Given the description of an element on the screen output the (x, y) to click on. 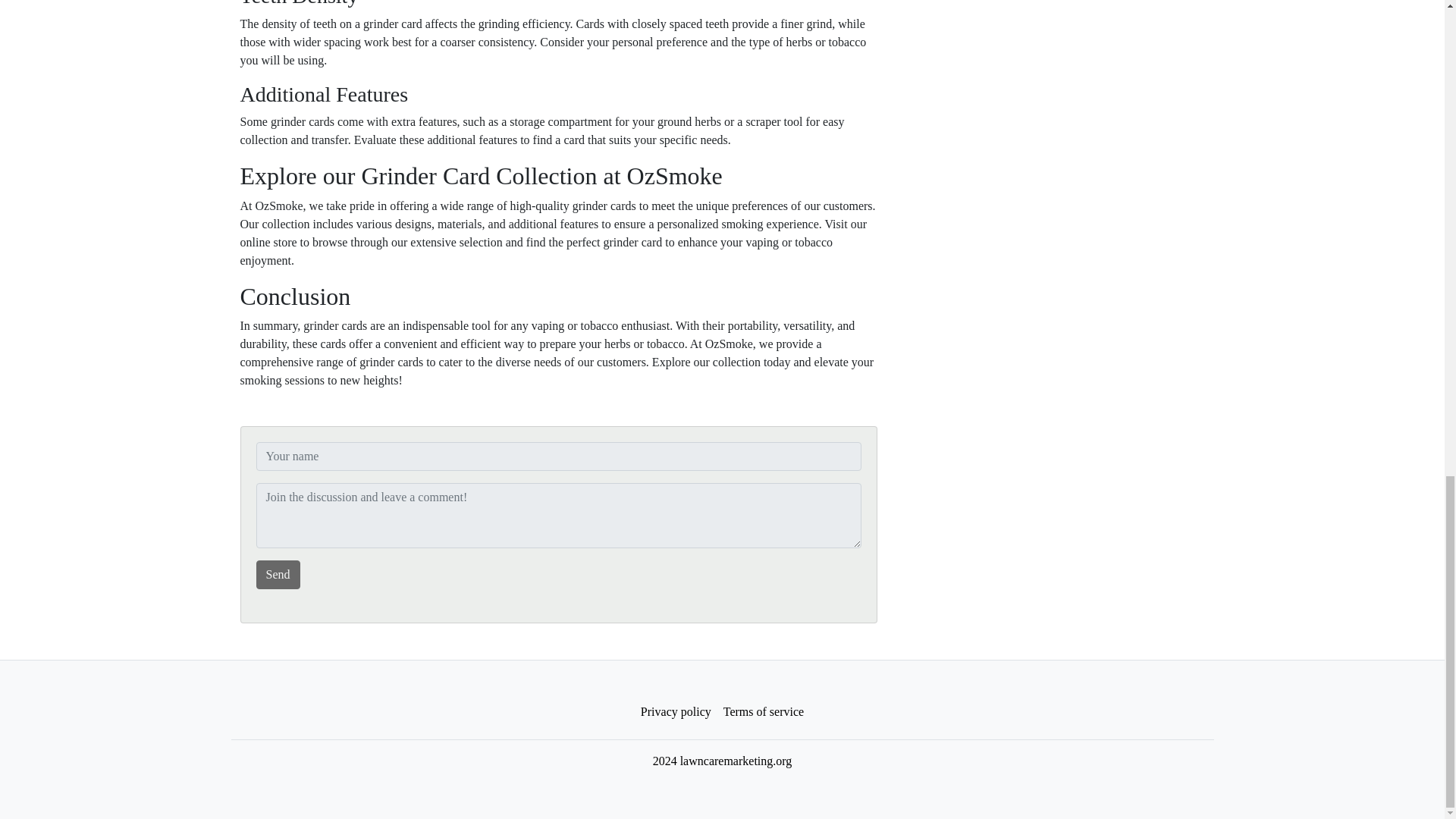
Send (277, 574)
Send (277, 574)
Terms of service (763, 711)
Privacy policy (675, 711)
